Given the description of an element on the screen output the (x, y) to click on. 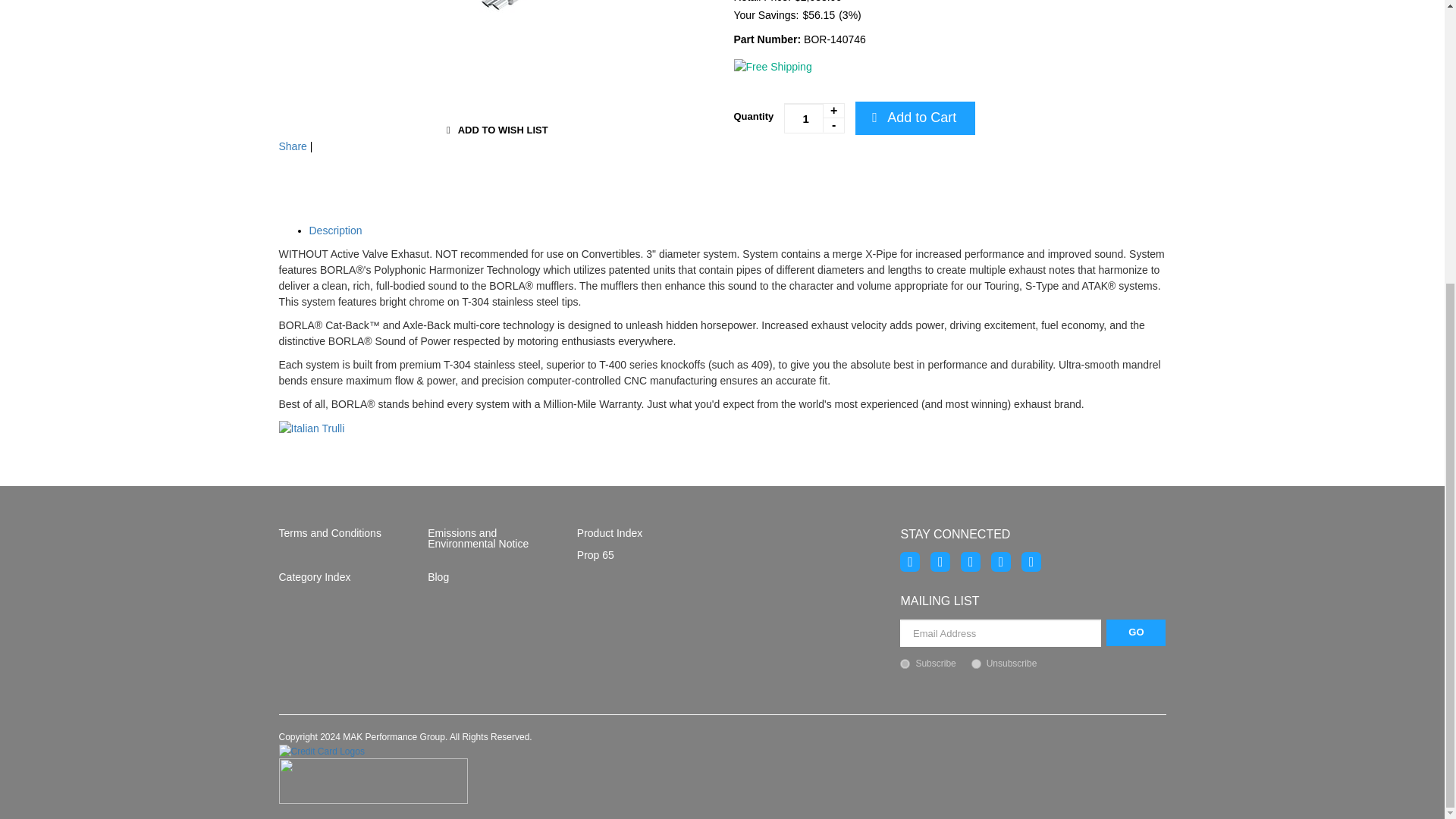
Subscribe to our Channel (969, 561)
Subscribe to our Blog (1031, 561)
1 (904, 664)
Like Us on Facebook (909, 561)
Credit Card Logos (322, 751)
1 (814, 118)
Follow Us on Twitter (940, 561)
0 (976, 664)
Follow Us on Instagram (1000, 561)
